Given the description of an element on the screen output the (x, y) to click on. 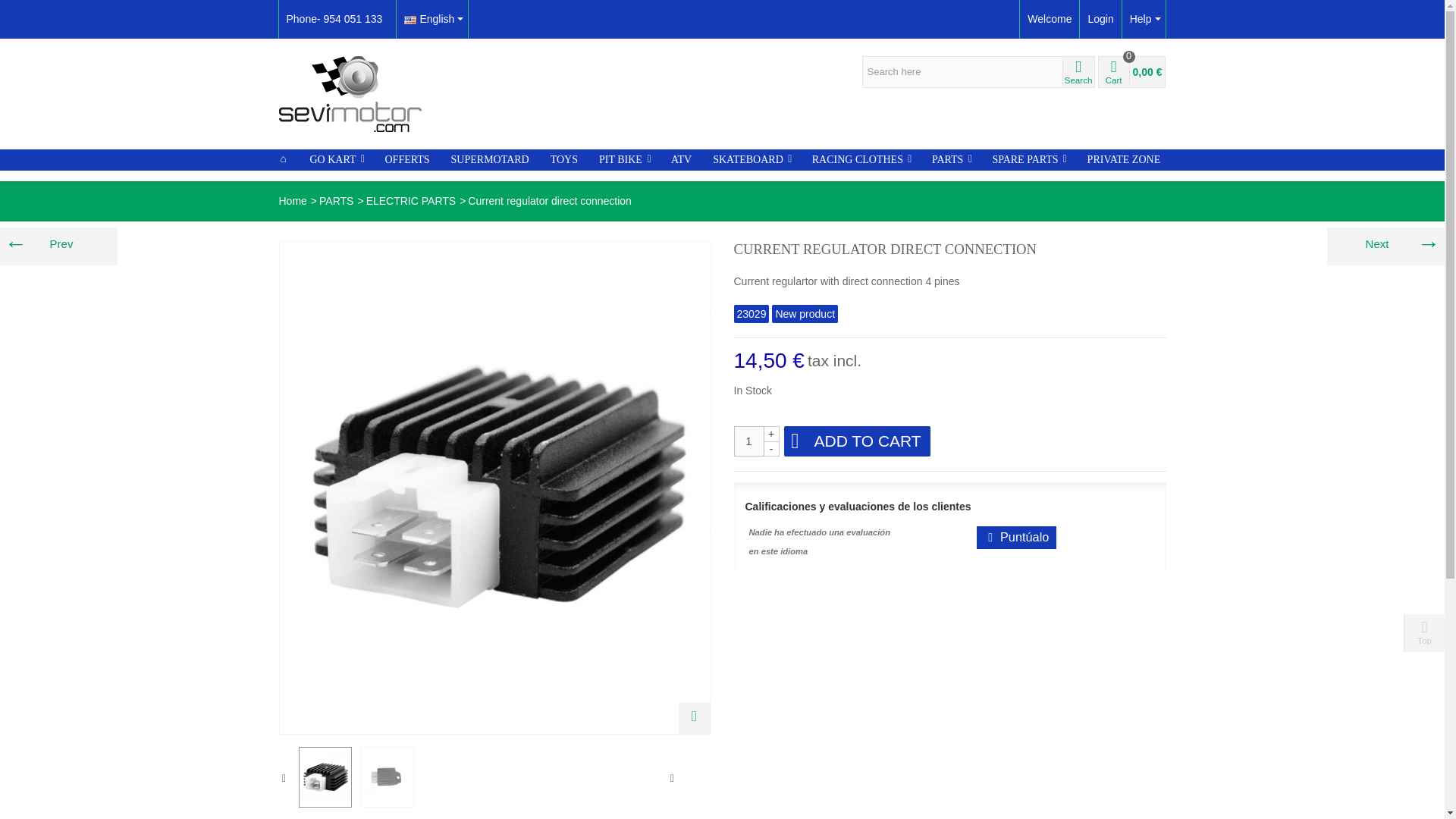
SKATEBOARD (751, 159)
1 (748, 440)
TOYS (564, 159)
ELECTRIC PARTS (411, 200)
Search (1078, 71)
Login (1099, 19)
PARTS (335, 200)
Search (1078, 71)
OFFERTS (407, 159)
GO KART (336, 159)
